Given the description of an element on the screen output the (x, y) to click on. 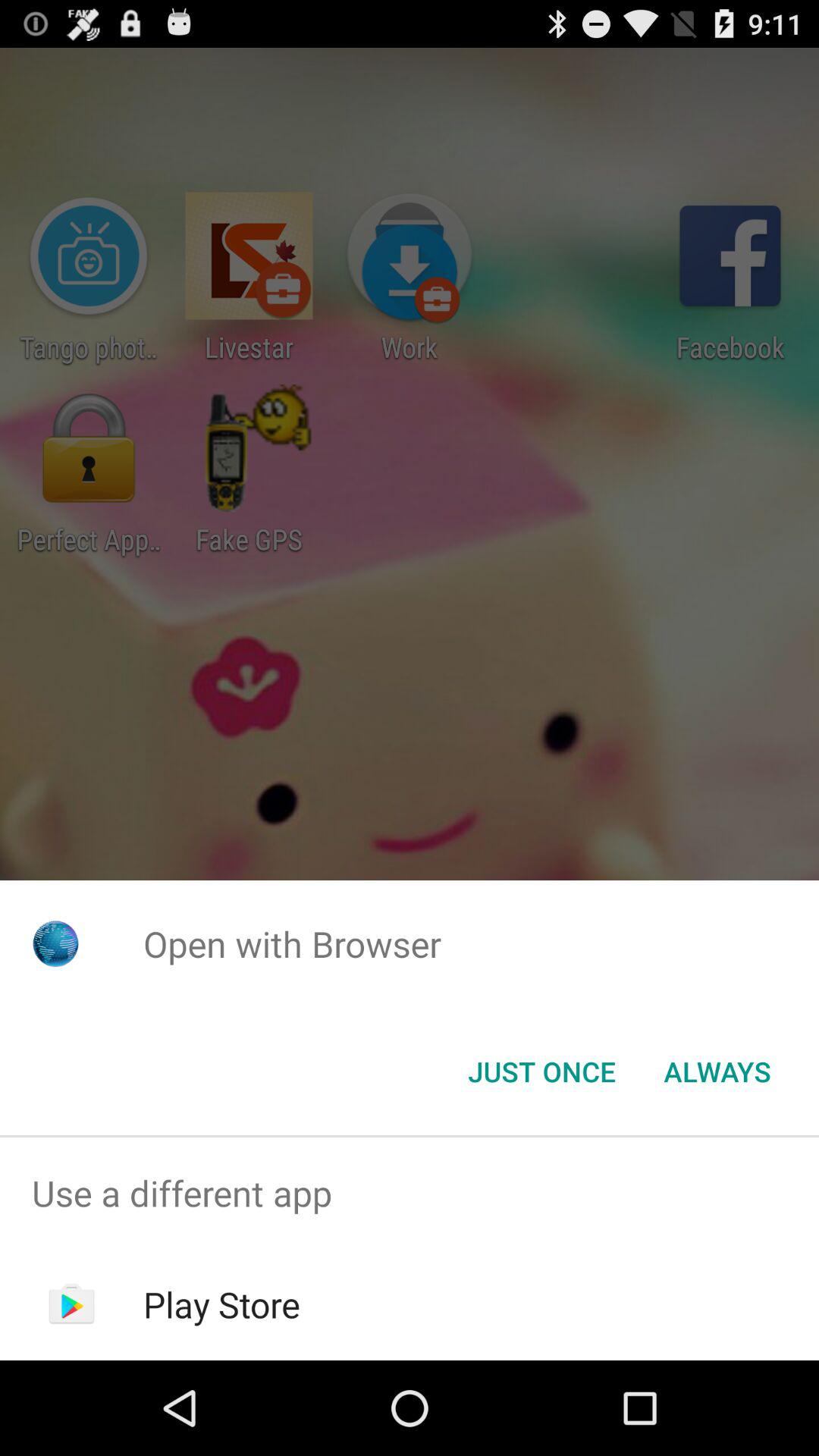
swipe until just once item (541, 1071)
